Given the description of an element on the screen output the (x, y) to click on. 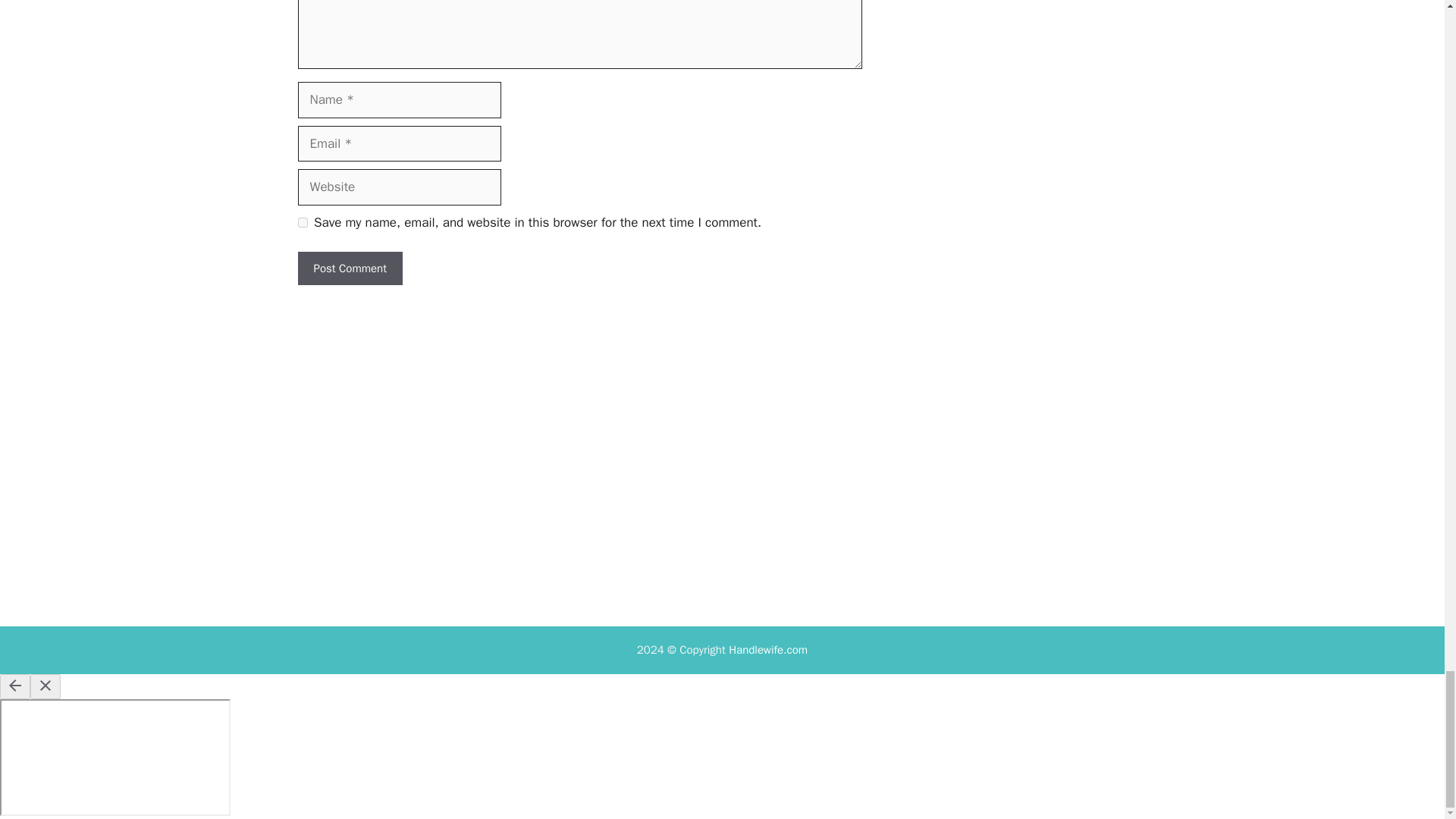
yes (302, 222)
Post Comment (349, 268)
